Given the description of an element on the screen output the (x, y) to click on. 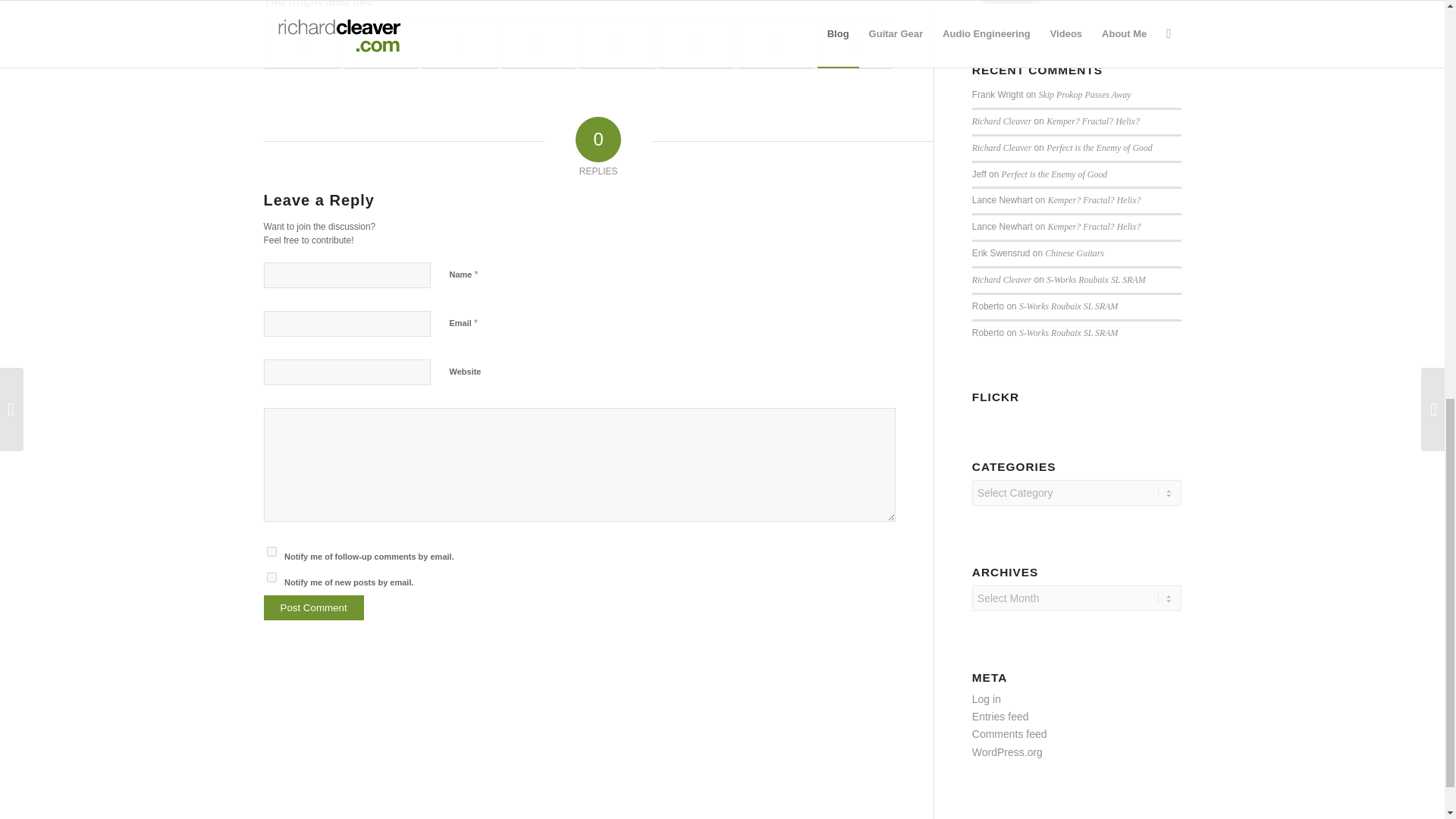
Reflections On The New Year (538, 45)
House On A Hill (459, 45)
Richard Cleaver (1001, 121)
Kemper? Fractal? Helix? (1093, 121)
Perfect is the Enemy of Good (1054, 173)
Post Comment (313, 607)
Post Comment (313, 607)
subscribe (271, 577)
Skip Prokop Passes Away (1084, 94)
Which Way? (617, 45)
The Long Weekend (380, 45)
subscribe (271, 551)
Subscribe (1011, 2)
Chain Link (696, 45)
Perfect is the Enemy of Good (1099, 147)
